Given the description of an element on the screen output the (x, y) to click on. 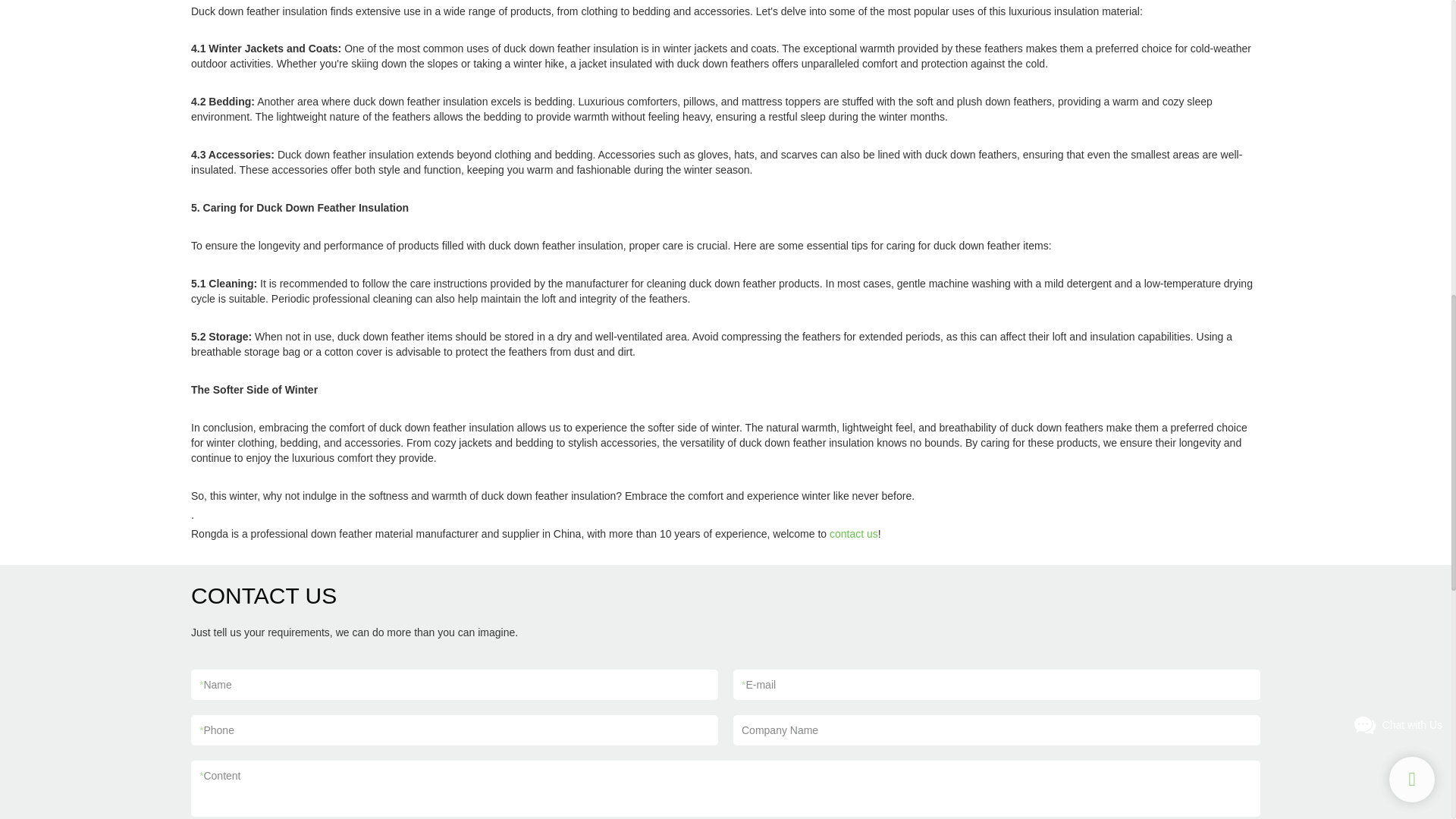
contact us (853, 533)
contact us (853, 533)
